Given the description of an element on the screen output the (x, y) to click on. 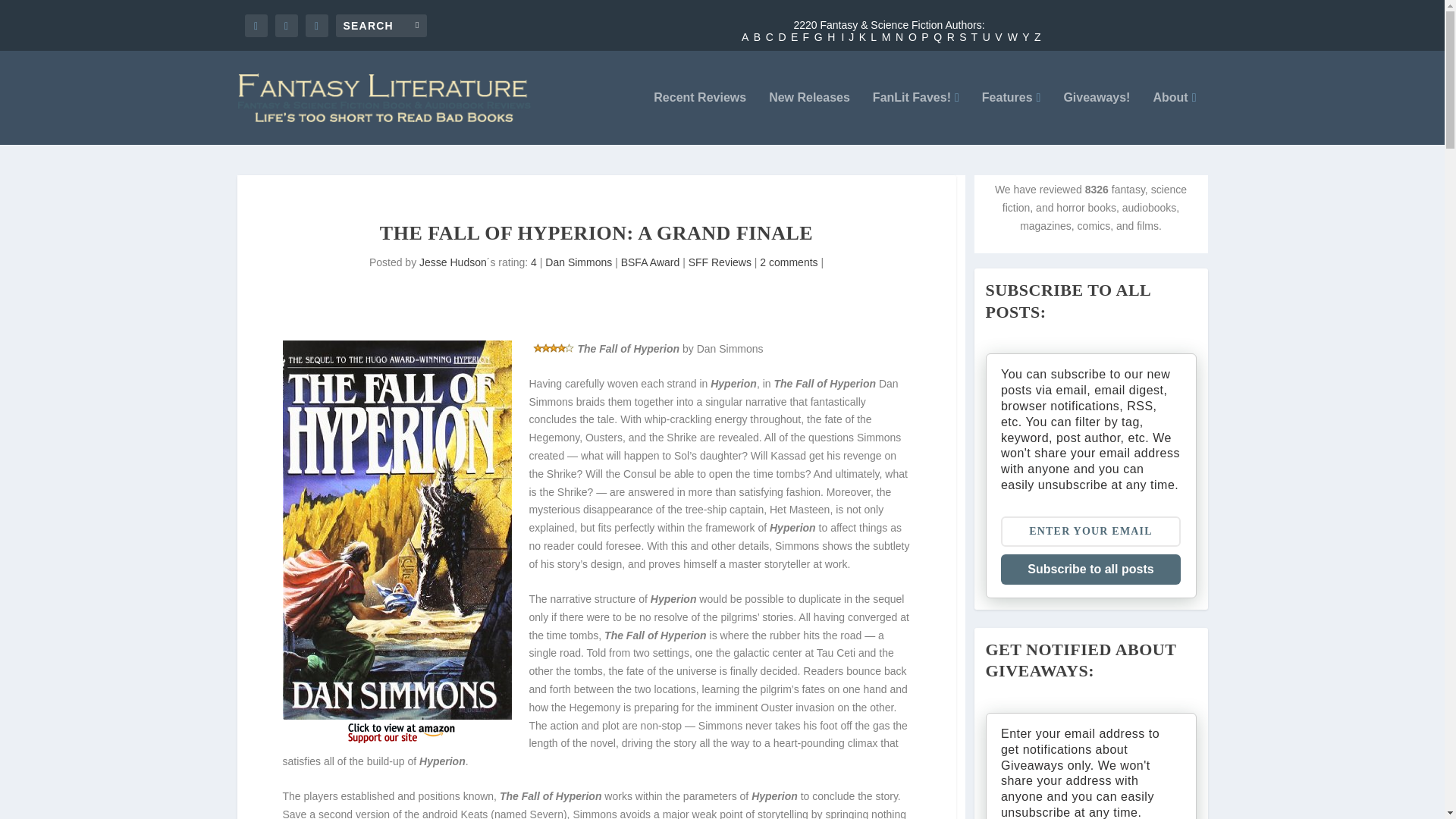
Posts by Jesse Hudson (452, 262)
FanLit Faves! (915, 117)
Search for: (380, 24)
